Given the description of an element on the screen output the (x, y) to click on. 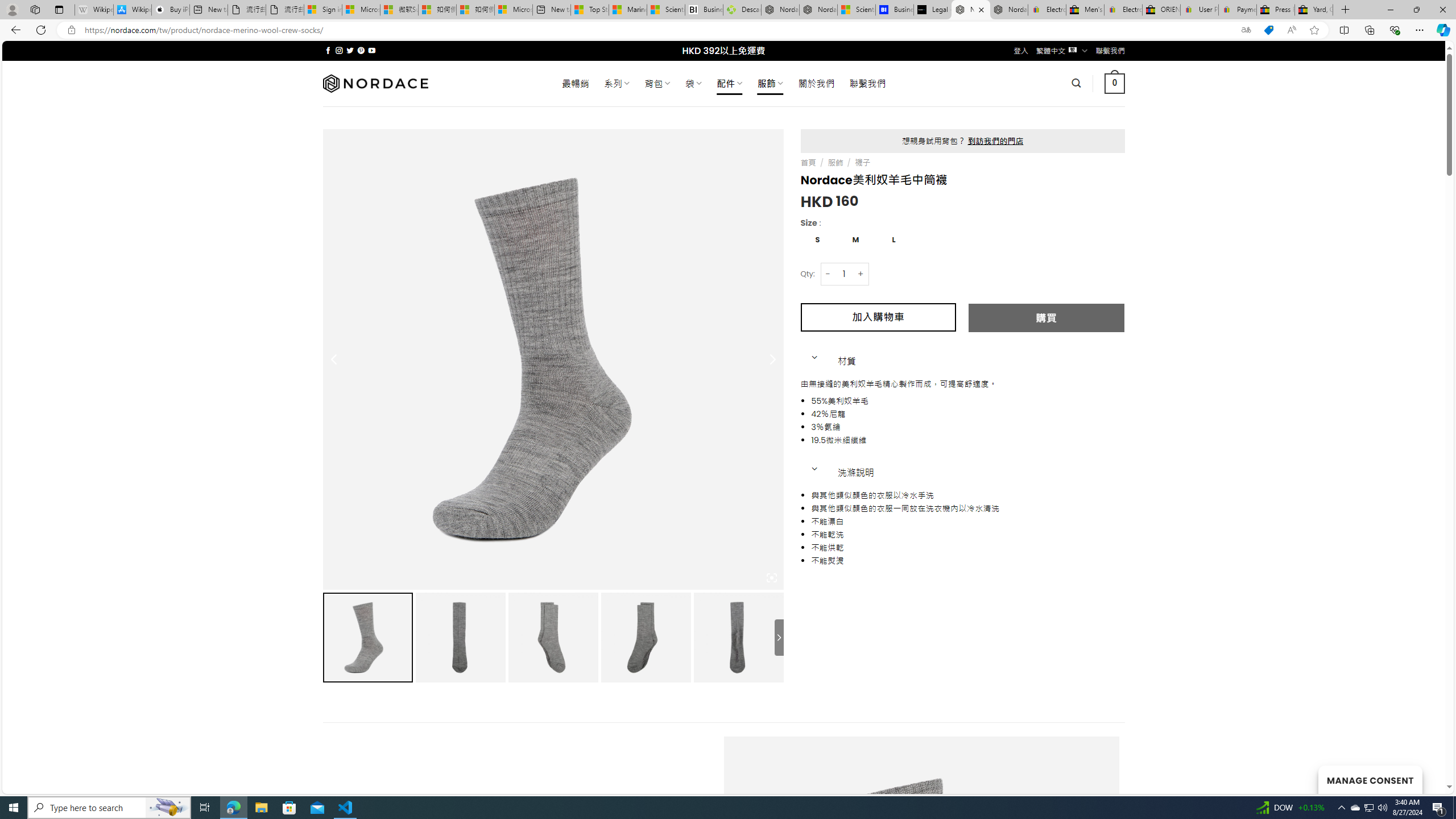
Follow on Instagram (338, 50)
